Given the description of an element on the screen output the (x, y) to click on. 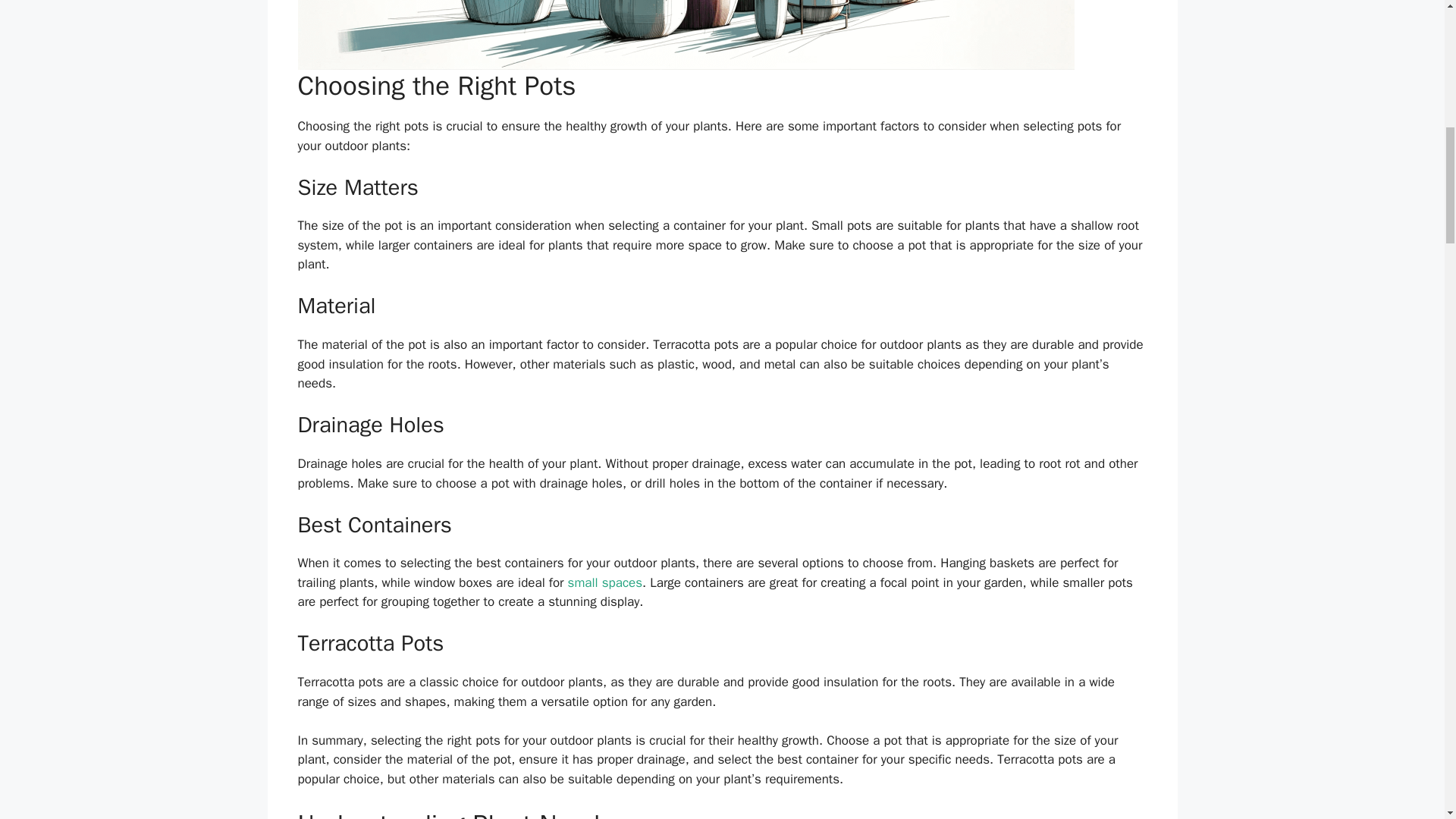
small spaces (604, 582)
